Given the description of an element on the screen output the (x, y) to click on. 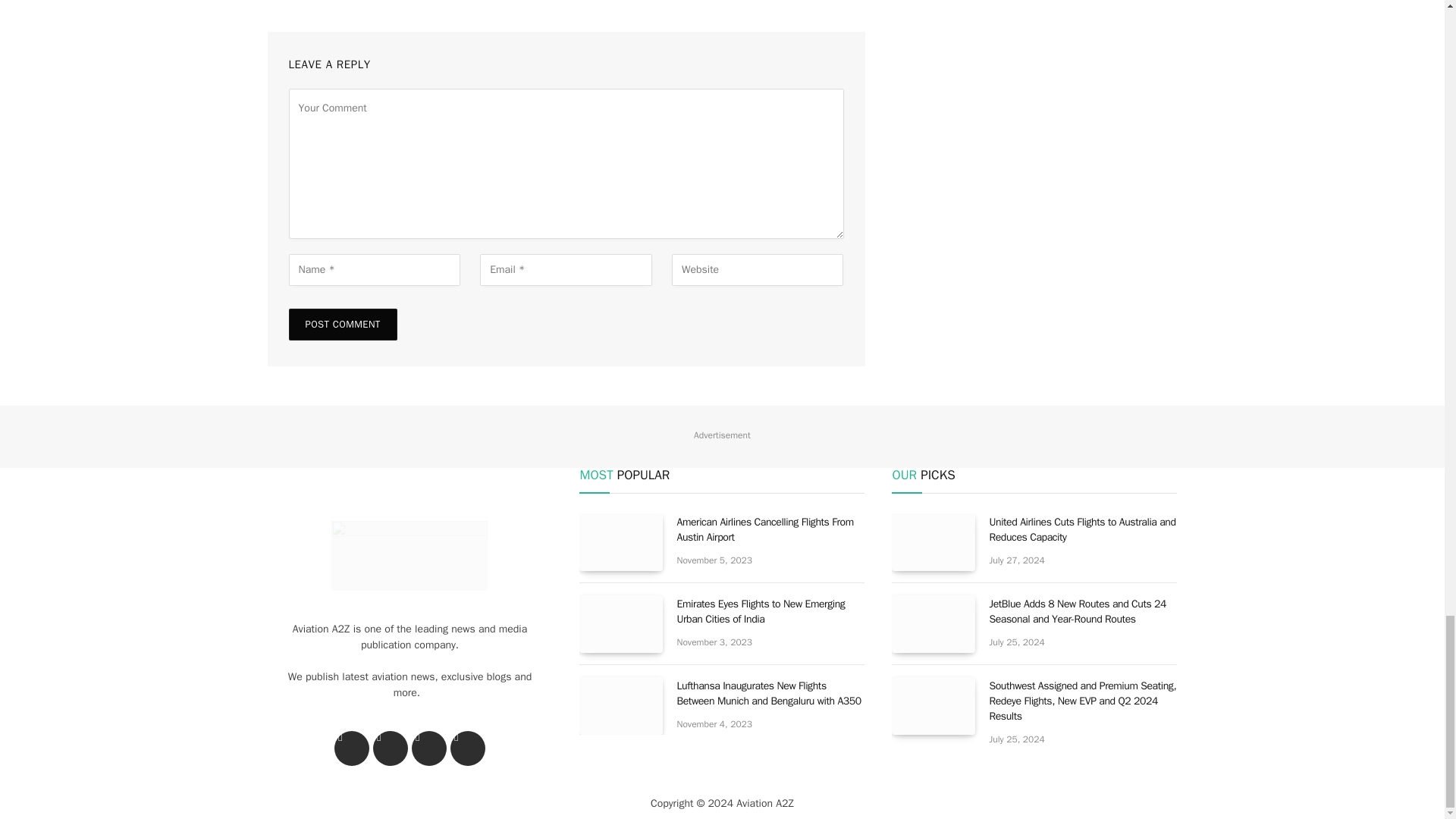
Post Comment (342, 324)
